Given the description of an element on the screen output the (x, y) to click on. 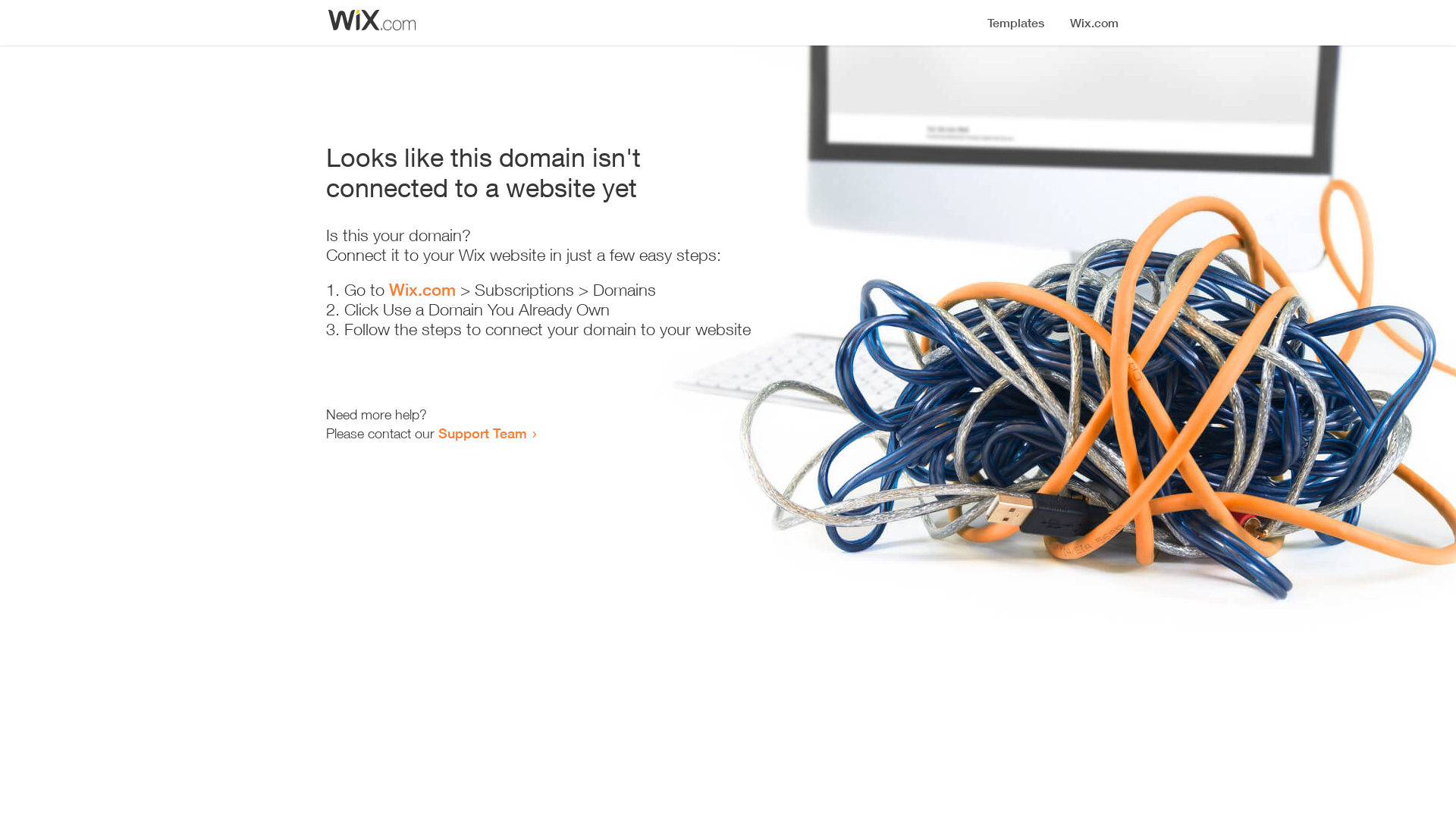
Wix.com Element type: text (422, 289)
Support Team Element type: text (482, 432)
